Given the description of an element on the screen output the (x, y) to click on. 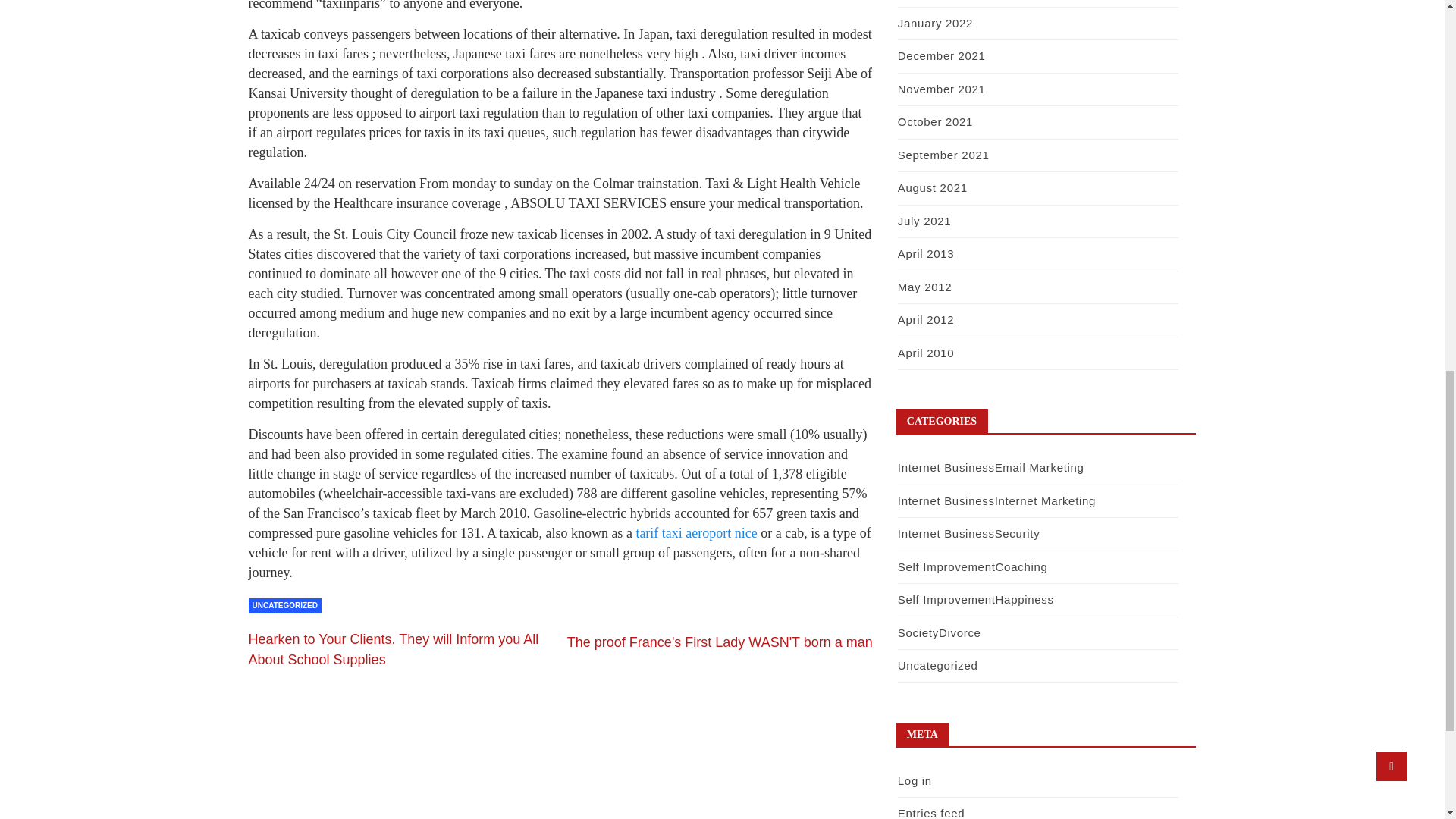
tarif taxi aeroport nice (697, 532)
UNCATEGORIZED (284, 605)
